Given the description of an element on the screen output the (x, y) to click on. 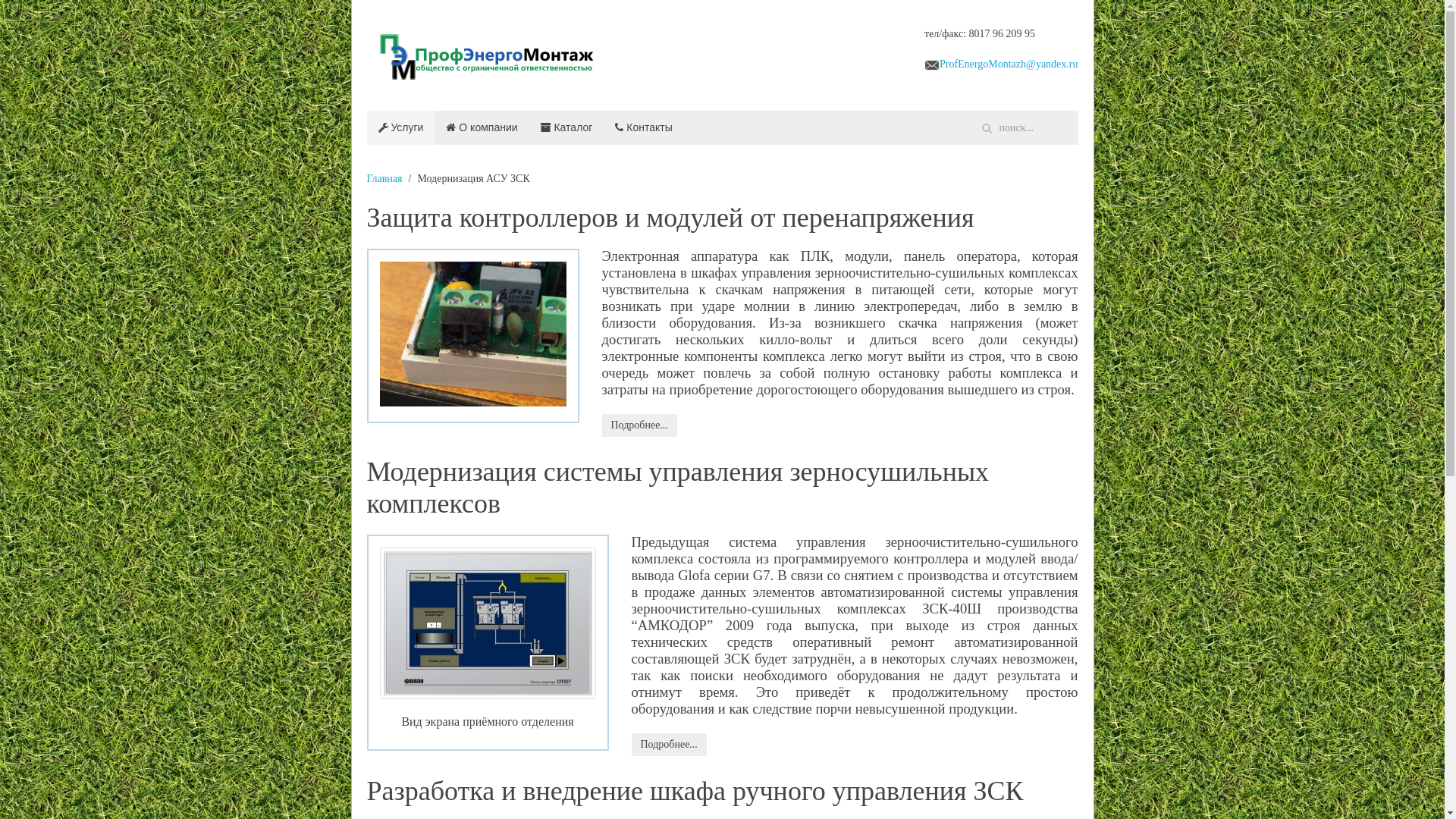
ProfEnergoMontazh@yandex.ru Element type: text (1008, 63)
